Given the description of an element on the screen output the (x, y) to click on. 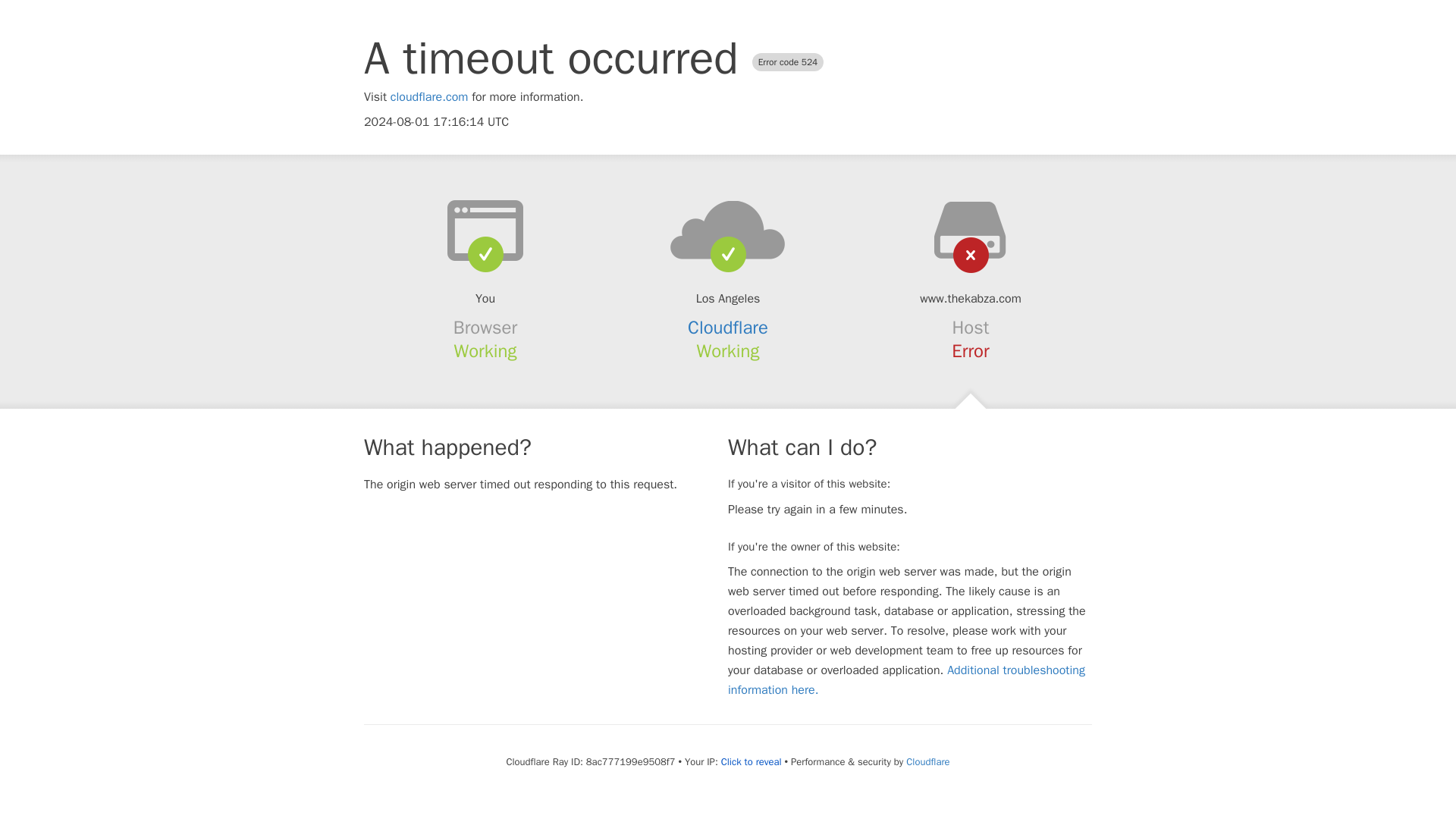
cloudflare.com (429, 96)
Additional troubleshooting information here. (906, 679)
Click to reveal (750, 762)
Cloudflare (927, 761)
Cloudflare (727, 327)
